Given the description of an element on the screen output the (x, y) to click on. 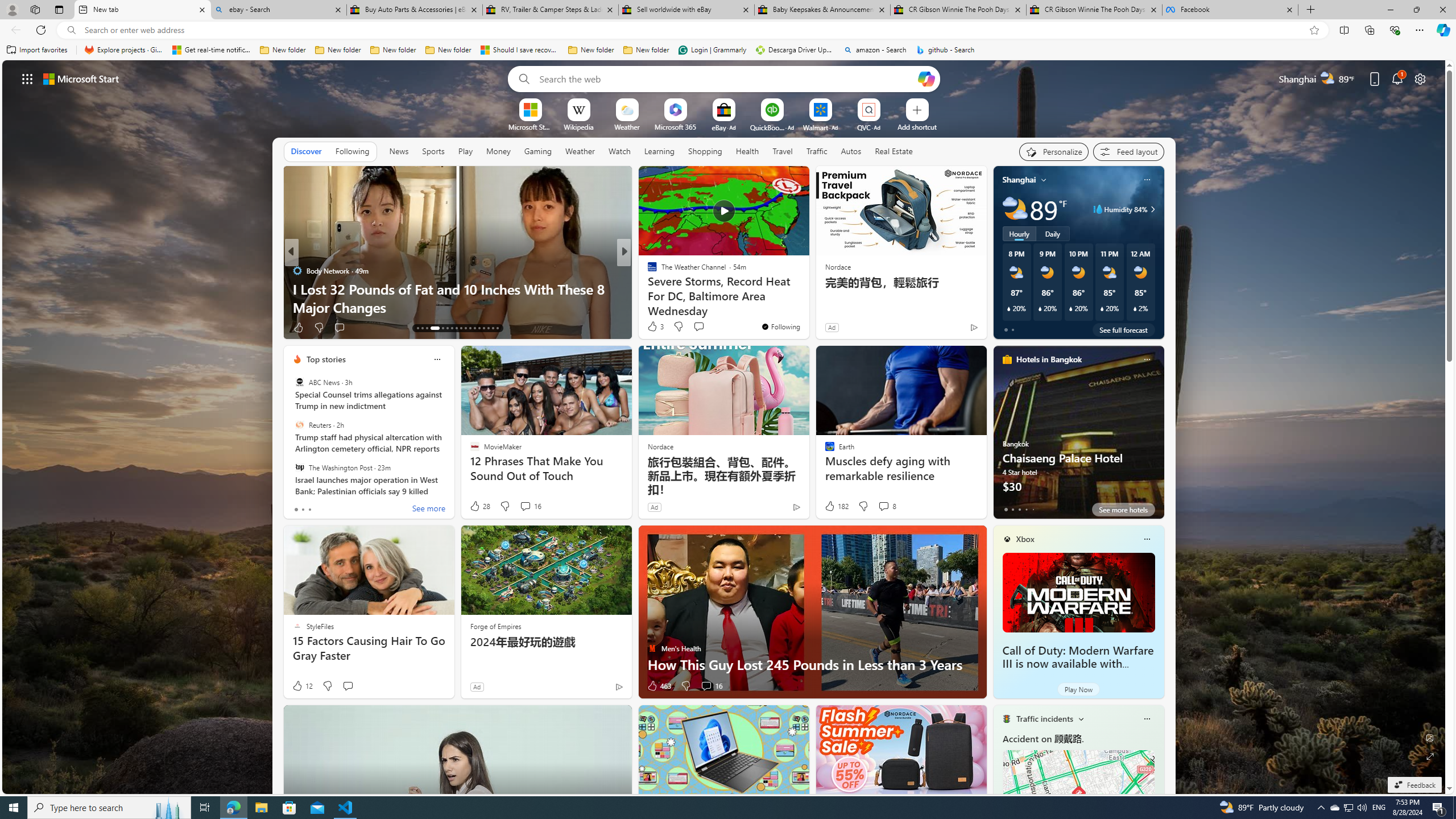
AutomationID: tab-20 (456, 328)
Should I save recovered Word documents? - Microsoft Support (519, 49)
353 Like (654, 327)
View comments 1 Comment (703, 327)
Partly cloudy (1014, 208)
AutomationID: tab-28 (492, 328)
View comments 167 Comment (709, 327)
AutomationID: tab-27 (488, 328)
